Given the description of an element on the screen output the (x, y) to click on. 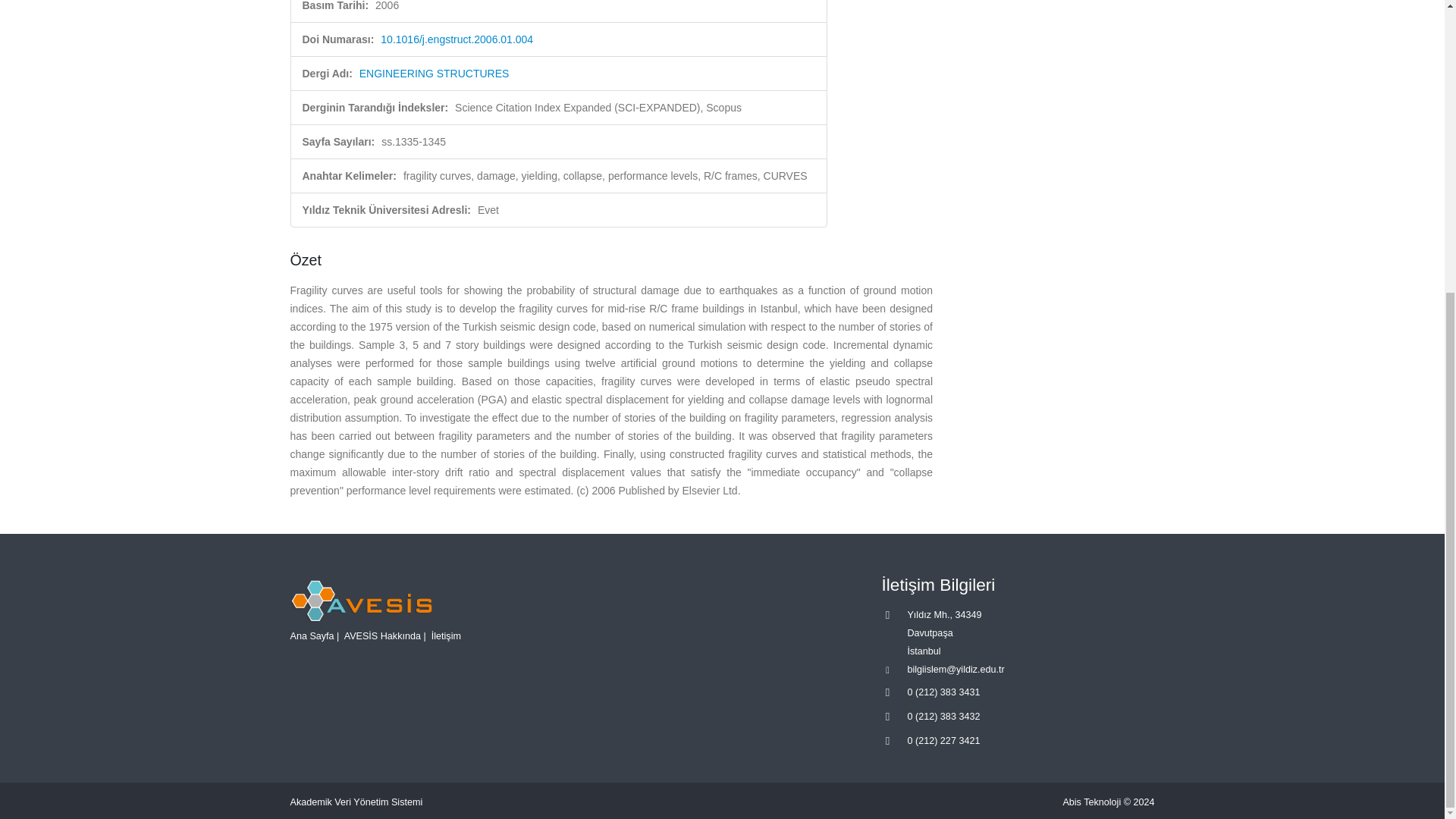
ENGINEERING STRUCTURES (434, 73)
Ana Sayfa (311, 635)
Abis Teknoloji (1091, 801)
